Given the description of an element on the screen output the (x, y) to click on. 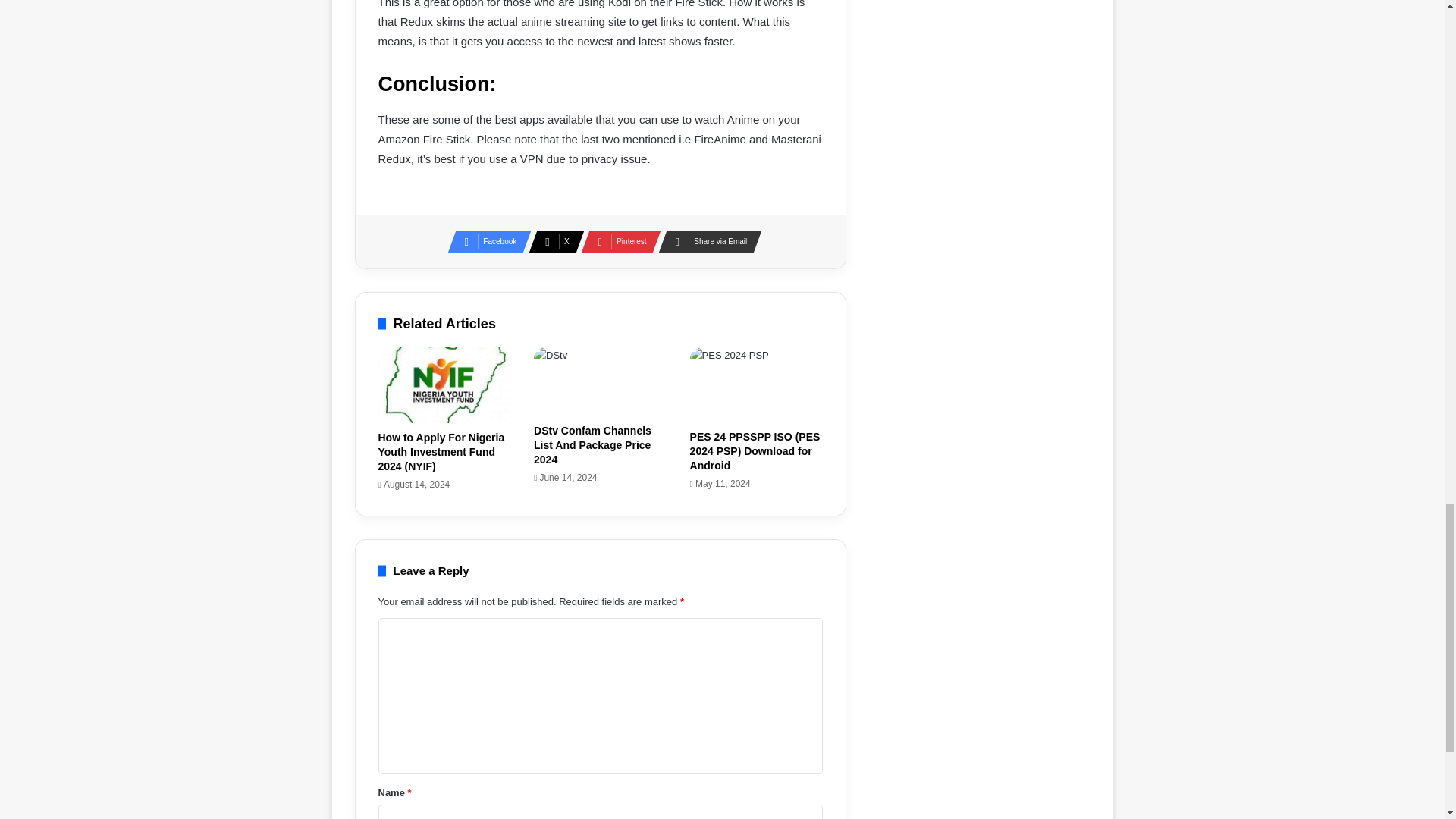
DStv Confam Channels List And Package Price 2024 3 (600, 381)
Share via Email (705, 241)
X (551, 241)
Facebook (484, 241)
Facebook (484, 241)
X (551, 241)
DStv Confam Channels List And Package Price 2024 (592, 445)
Pinterest (616, 241)
Pinterest (616, 241)
Share via Email (705, 241)
